Given the description of an element on the screen output the (x, y) to click on. 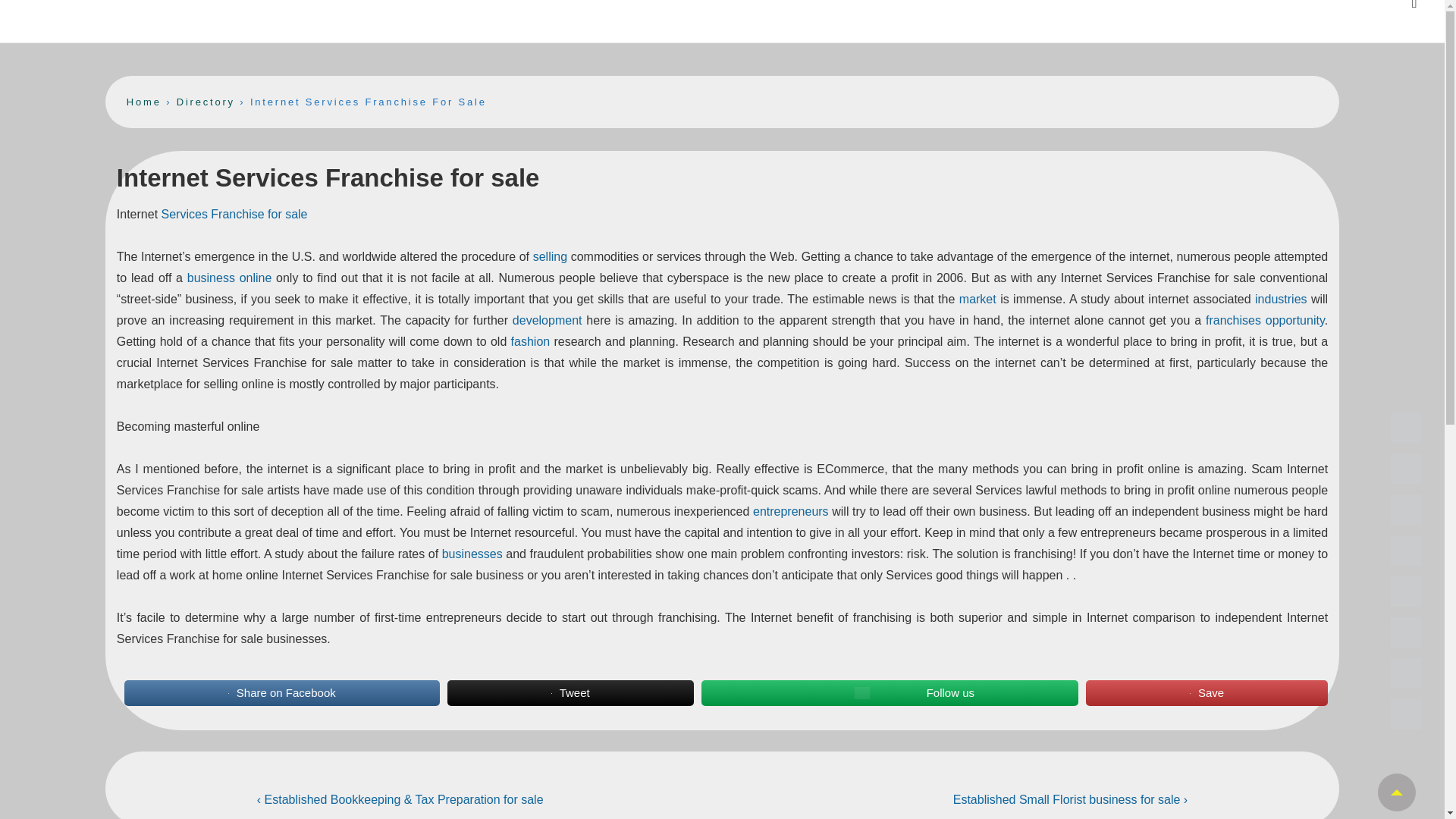
fashion (530, 341)
Tweet (570, 692)
for sale (287, 214)
Franchise (237, 214)
development (547, 319)
Home (143, 101)
Save (1206, 692)
business (210, 277)
Top (1396, 792)
